Given the description of an element on the screen output the (x, y) to click on. 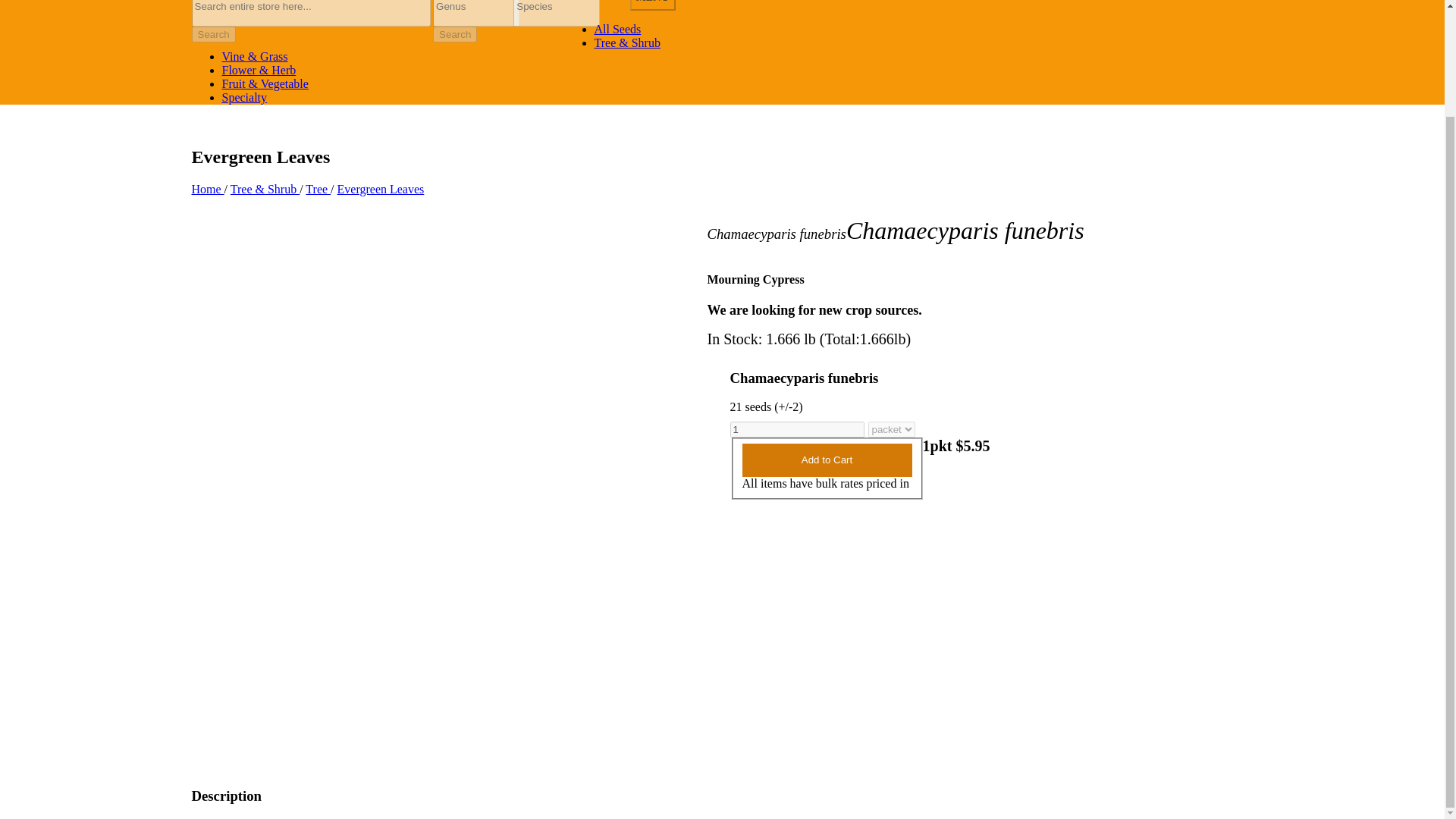
Evergreen Leaves (381, 188)
Home (207, 188)
genus (475, 13)
1 (796, 429)
Title (310, 13)
Search (212, 34)
All Seeds (618, 29)
MENU (651, 5)
Search (454, 34)
Specialty (243, 97)
Add to Cart (826, 459)
species (556, 13)
Tree (317, 188)
Add to Cart (826, 459)
